Given the description of an element on the screen output the (x, y) to click on. 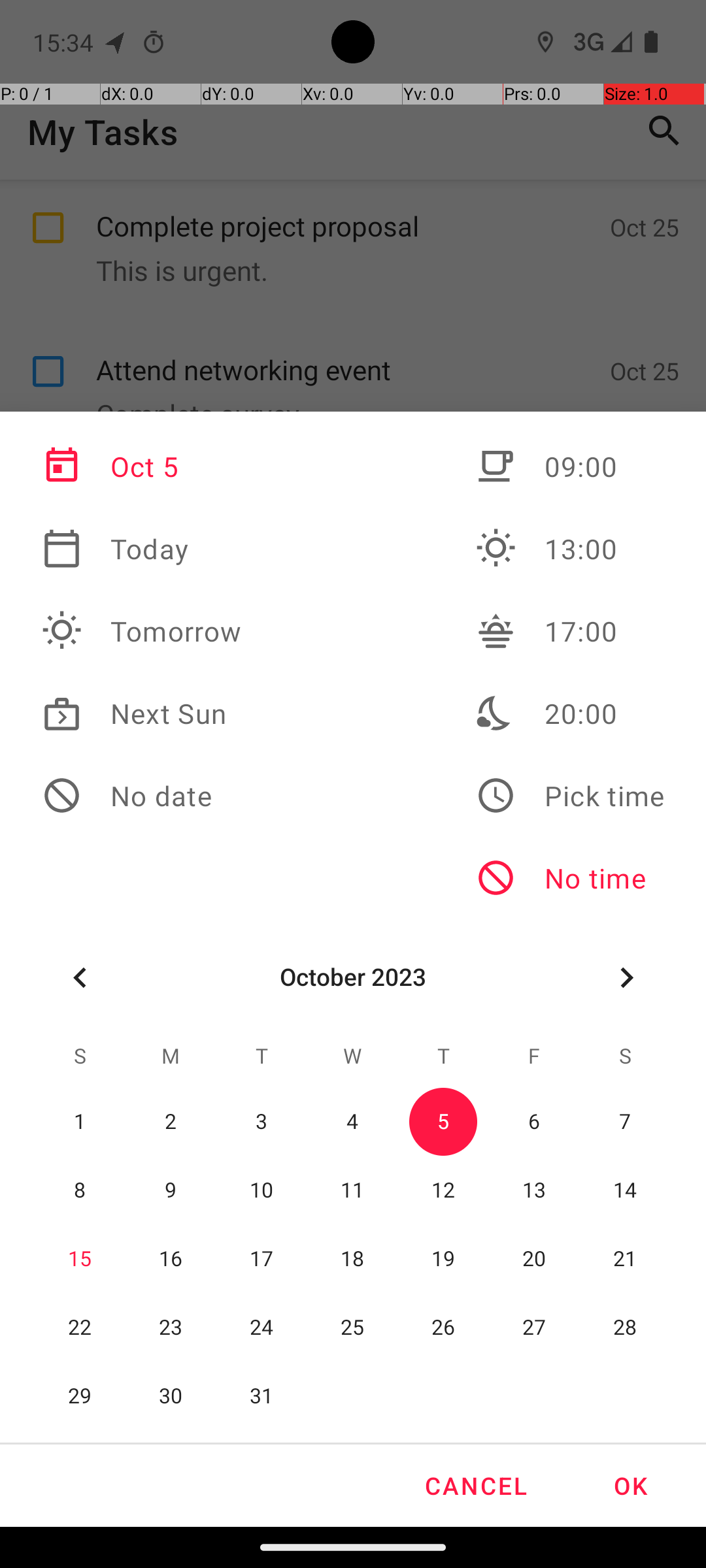
Oct 5 Element type: android.widget.CompoundButton (141, 466)
